Given the description of an element on the screen output the (x, y) to click on. 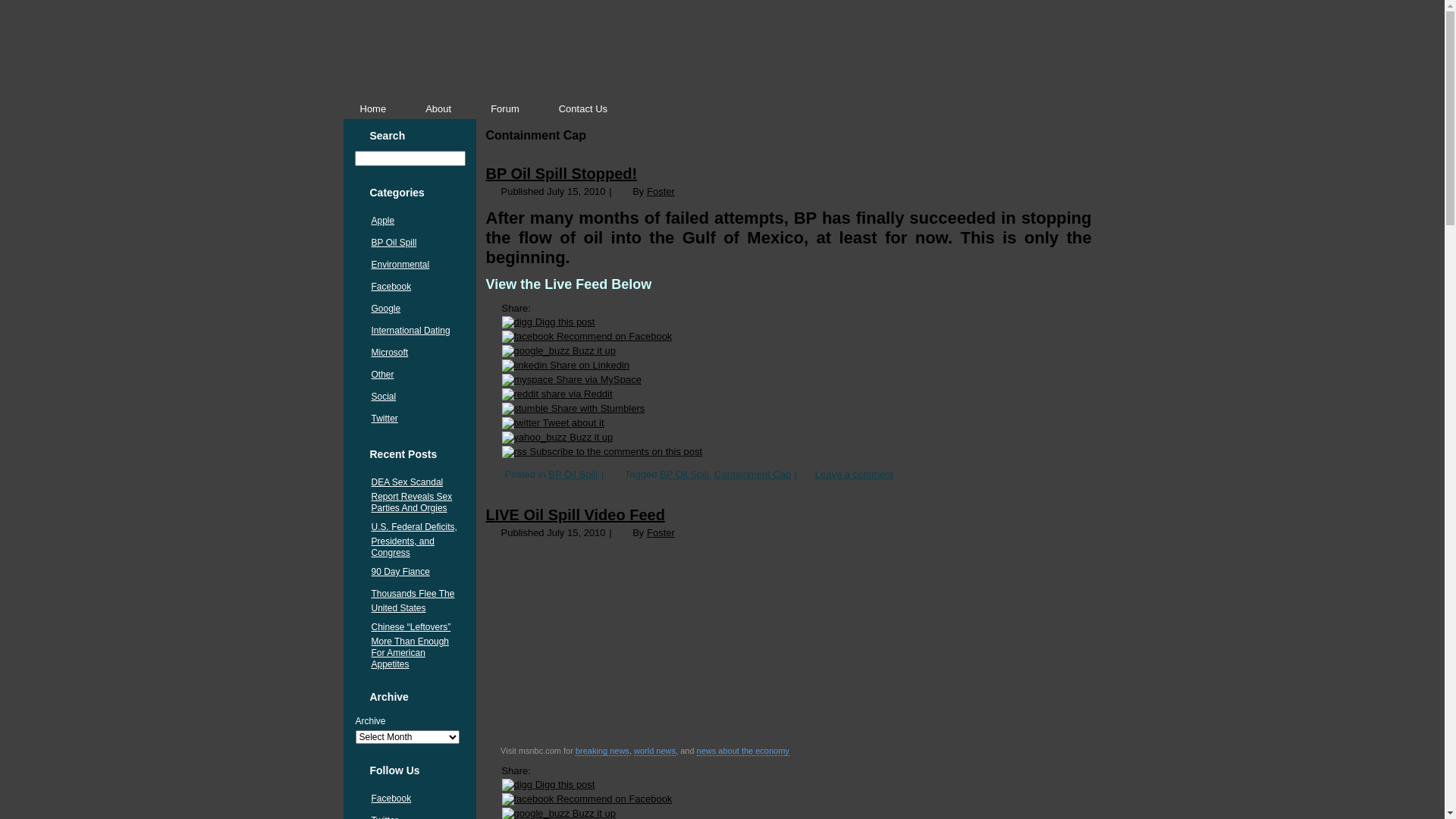
BP Oil Spill Element type: text (684, 474)
90 Day Fiance Element type: text (400, 571)
U.S. Federal Deficits, Presidents, and Congress Element type: text (414, 539)
LIVE Oil Spill Video Feed Element type: text (574, 514)
Google Element type: text (386, 308)
Buzz it up Element type: text (557, 436)
Recommend on Facebook Element type: text (587, 798)
Contact Us Element type: text (583, 109)
Forum Element type: text (504, 109)
Subscribe to the comments on this post Element type: text (602, 451)
Other Element type: text (382, 374)
International Dating Element type: text (410, 330)
Buzz it up Element type: text (558, 350)
Foster Element type: text (660, 532)
Environmental Element type: text (400, 264)
Foster Element type: text (660, 191)
Facebook Element type: text (391, 286)
world news Element type: text (654, 751)
Social Element type: text (383, 396)
BP Oil Spill Stopped! Element type: text (561, 173)
Tweet about it Element type: text (553, 422)
breaking news Element type: text (602, 751)
Recommend on Facebook Element type: text (587, 336)
BP Oil Spill Element type: text (572, 474)
Facebook Element type: text (391, 798)
share via Reddit Element type: text (557, 393)
BP Oil Spill Element type: text (394, 242)
Digg this post Element type: text (548, 321)
Microsoft Element type: text (389, 352)
Home Element type: text (372, 109)
About Element type: text (437, 109)
news about the economy Element type: text (742, 751)
Apple Element type: text (383, 220)
Share via MySpace Element type: text (571, 379)
Share on Linkedin Element type: text (566, 364)
Leave a comment Element type: text (854, 474)
Share with Stumblers Element type: text (573, 408)
Digg this post Element type: text (548, 784)
Thousands Flee The United States Element type: text (413, 600)
Twitter Element type: text (384, 418)
Containment Cap Element type: text (752, 474)
DEA Sex Scandal Report Reveals Sex Parties And Orgies Element type: text (411, 494)
